Given the description of an element on the screen output the (x, y) to click on. 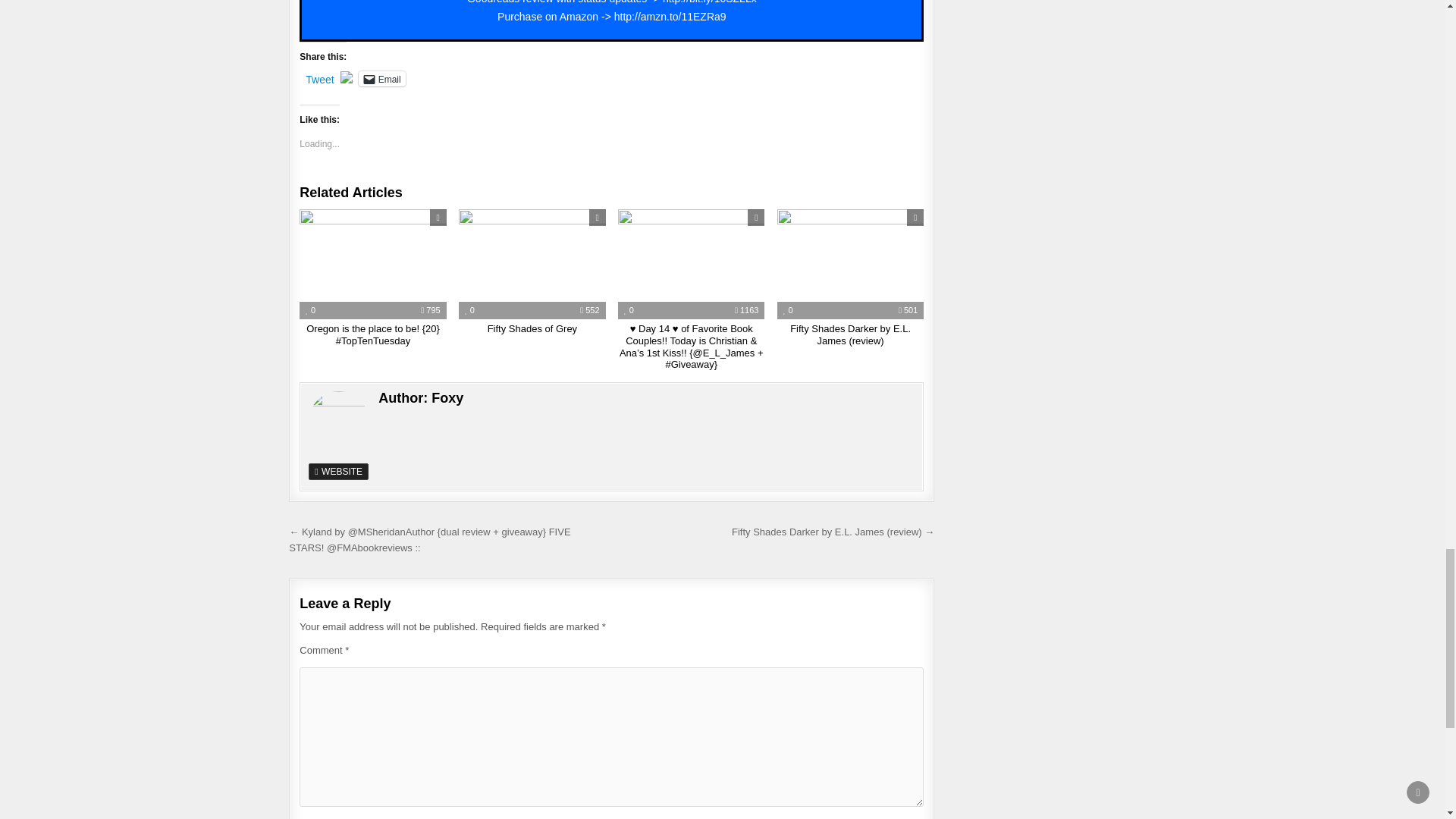
Tweet (319, 78)
0 (310, 310)
Email (382, 78)
